Given the description of an element on the screen output the (x, y) to click on. 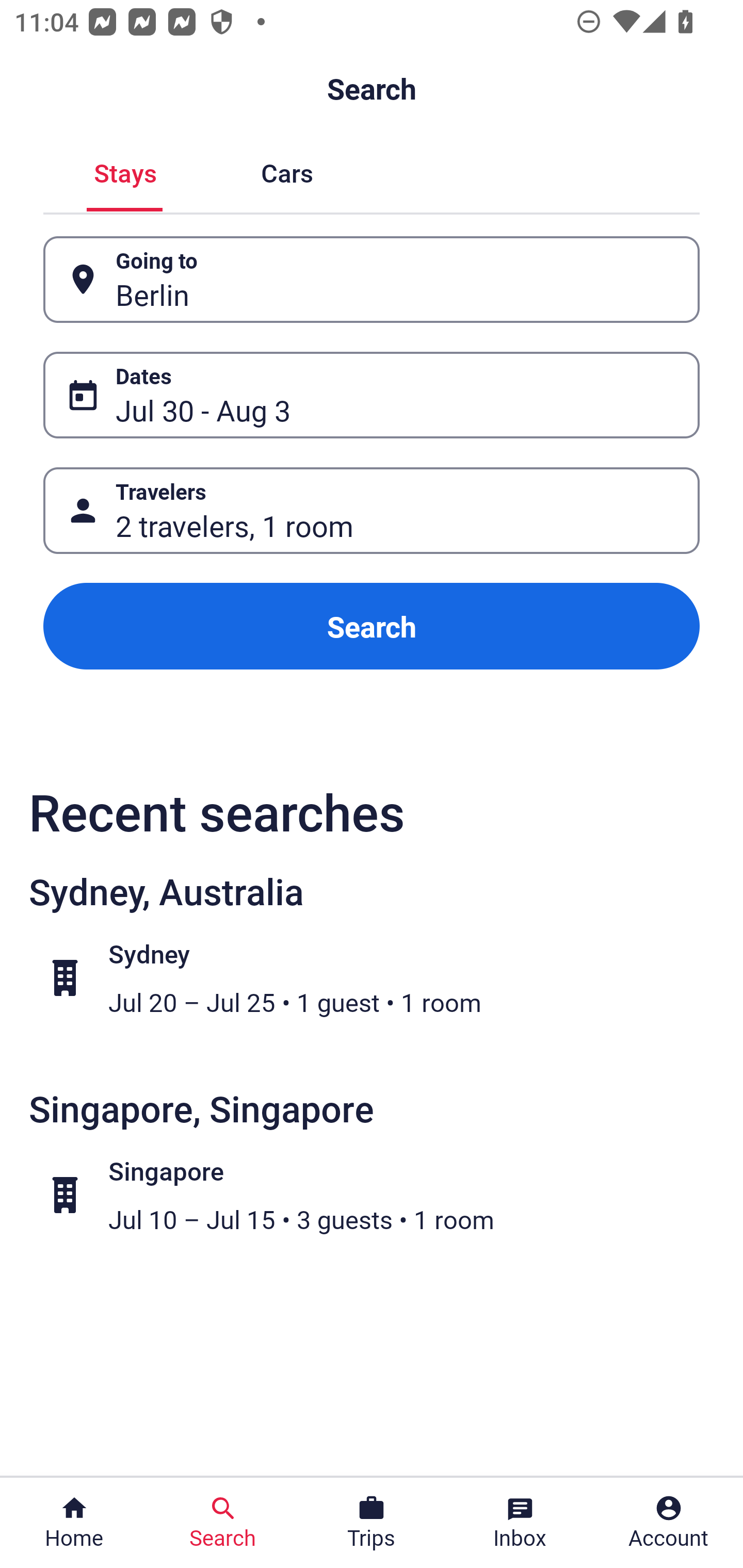
Cars (286, 171)
Going to Button Berlin (371, 279)
Dates Button Jul 30 - Aug 3 (371, 395)
Travelers Button 2 travelers, 1 room (371, 510)
Search (371, 626)
Sydney Jul 20 – Jul 25 • 1 guest • 1 room (382, 978)
Singapore Jul 10 – Jul 15 • 3 guests • 1 room (382, 1194)
Home Home Button (74, 1522)
Trips Trips Button (371, 1522)
Inbox Inbox Button (519, 1522)
Account Profile. Button (668, 1522)
